Given the description of an element on the screen output the (x, y) to click on. 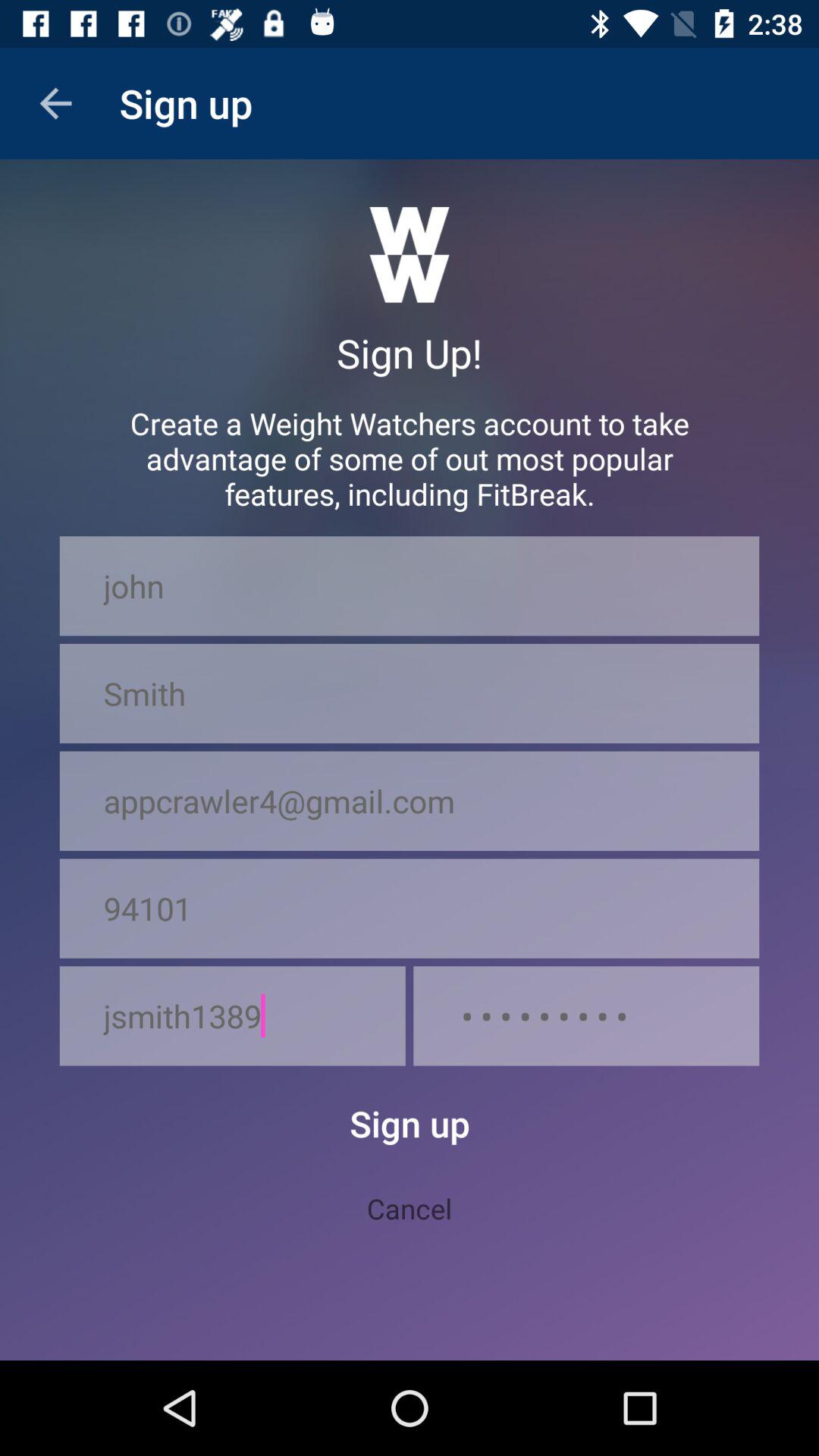
option below john (409, 692)
select the text which is above the sign up (409, 254)
select the first text field of the page (409, 585)
